Given the description of an element on the screen output the (x, y) to click on. 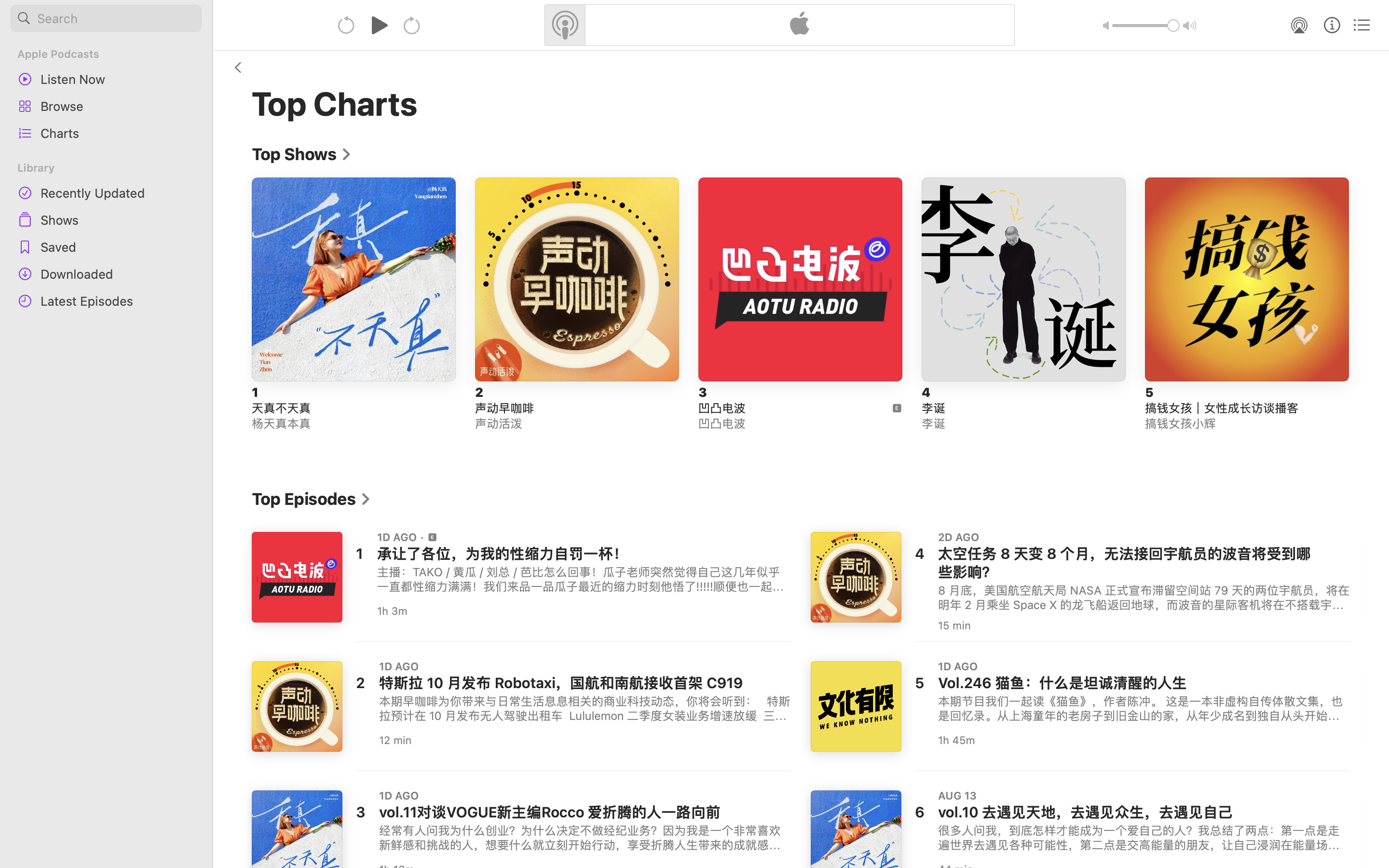
1.0 Element type: AXSlider (1145, 25)
